Given the description of an element on the screen output the (x, y) to click on. 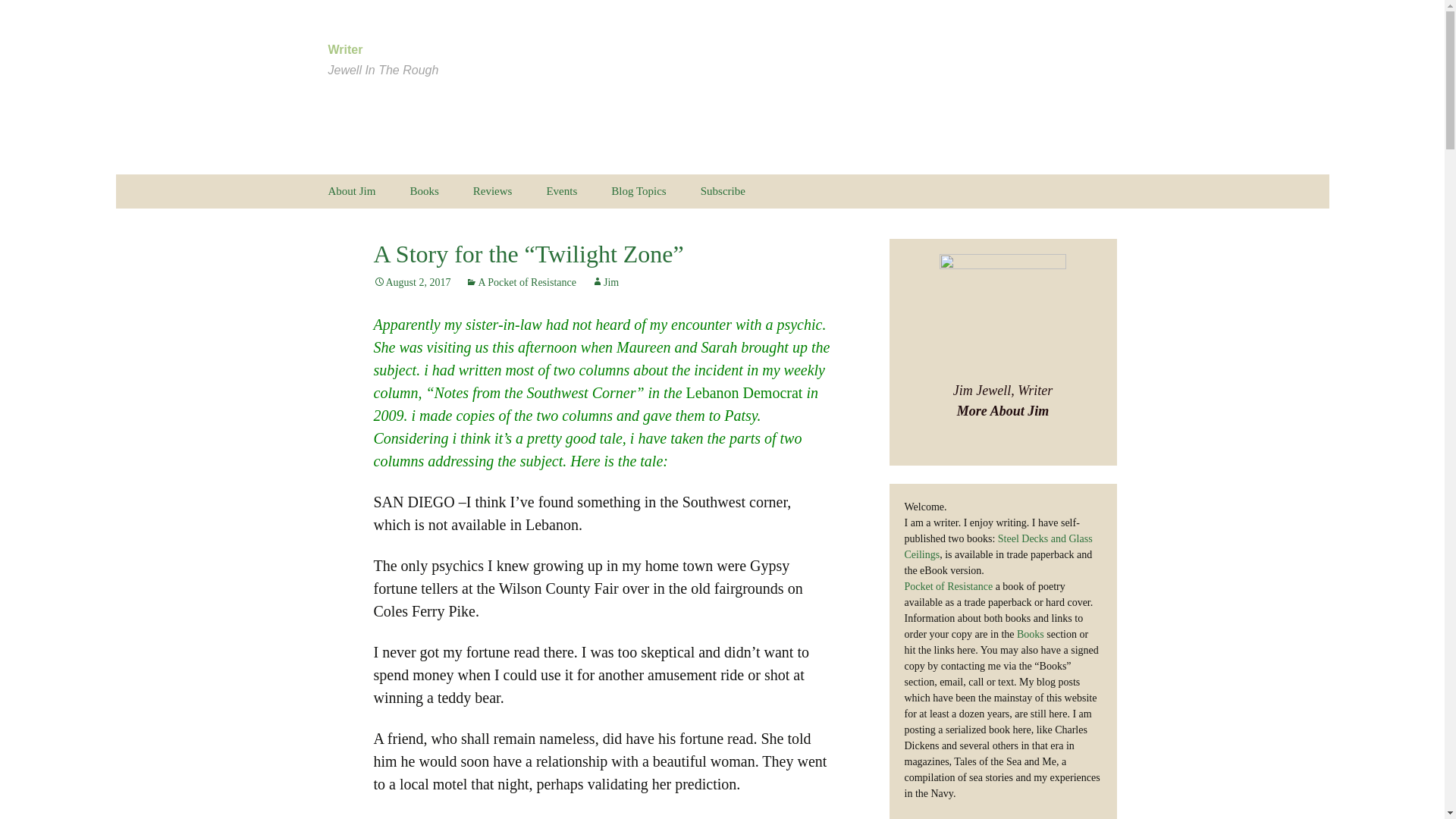
View all posts by Jim (604, 282)
Skip to content (638, 191)
Reviews (520, 282)
Pocket of Resistance (492, 191)
Steel Decks and Glass Ceilings (948, 586)
